Given the description of an element on the screen output the (x, y) to click on. 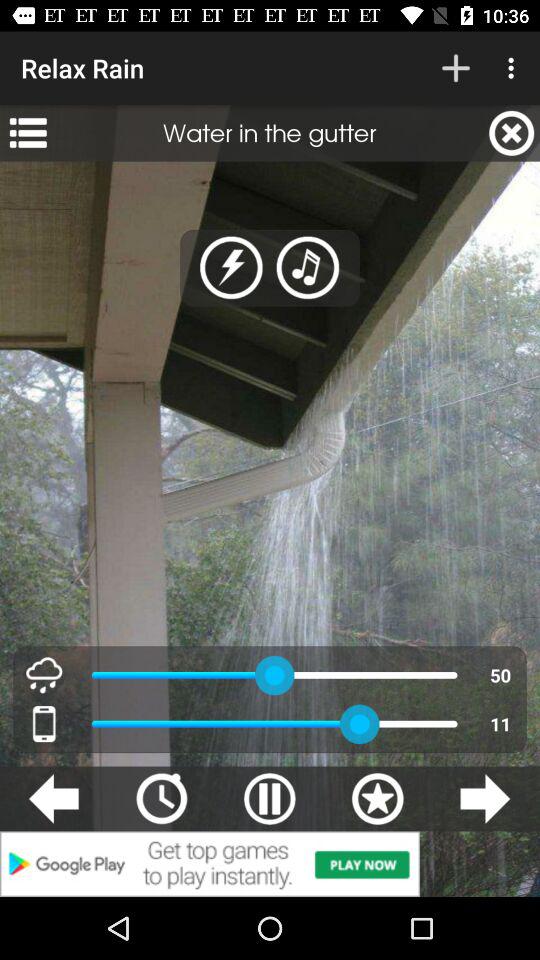
select item to the right of the water in the app (511, 133)
